Given the description of an element on the screen output the (x, y) to click on. 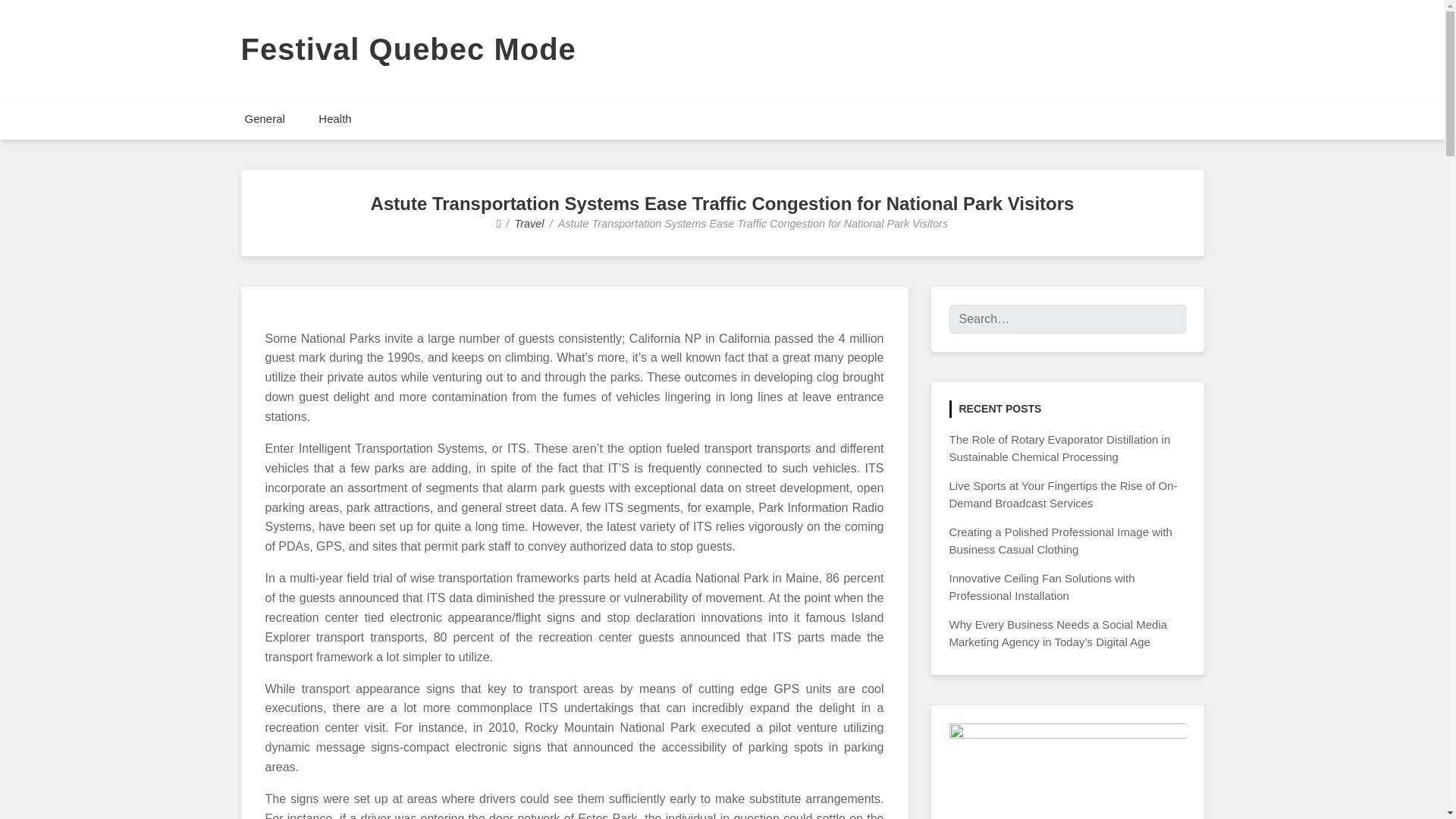
Travel (529, 223)
Health (334, 118)
General (263, 118)
Festival Quebec Mode (408, 49)
